Given the description of an element on the screen output the (x, y) to click on. 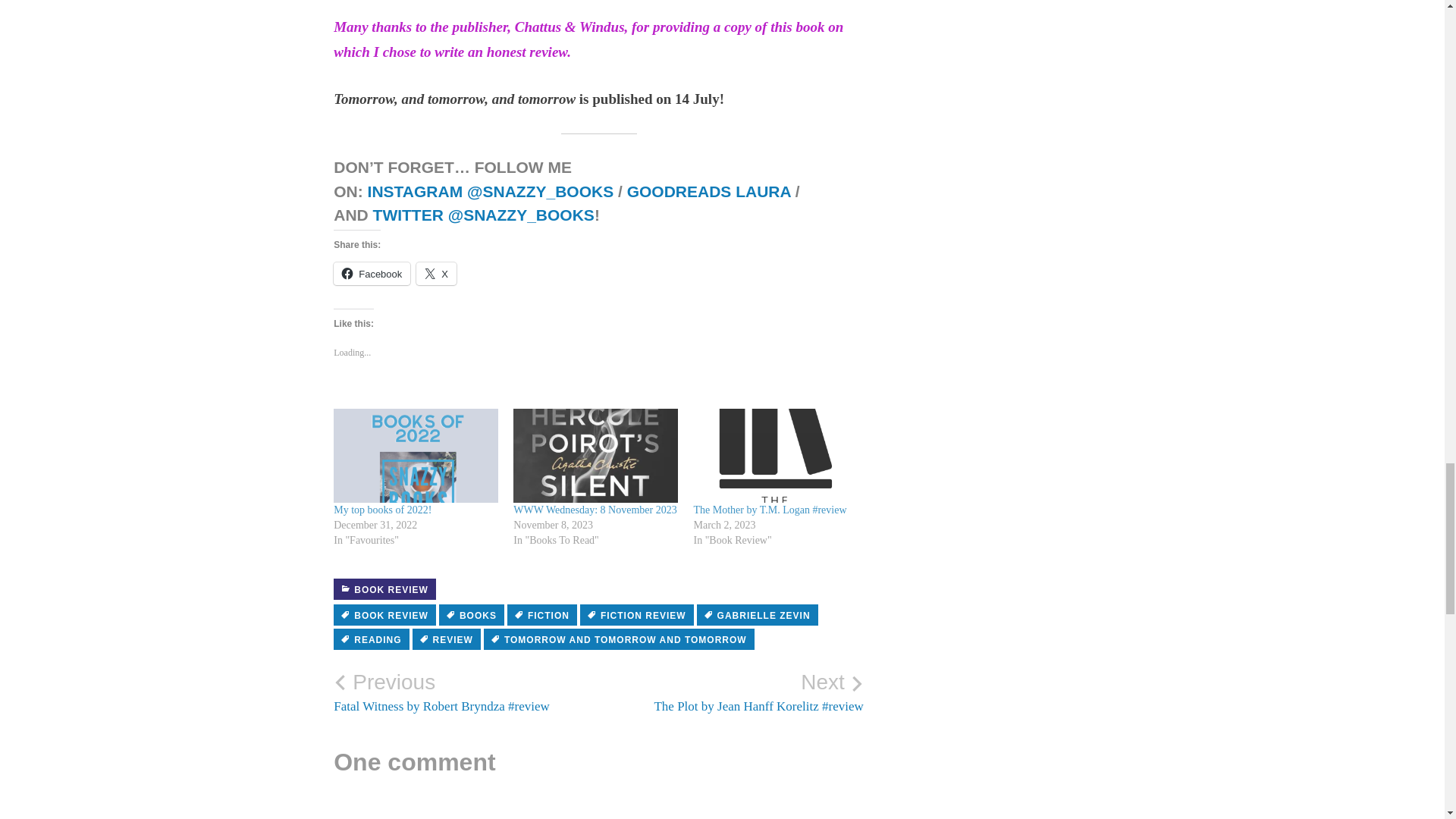
GOODREADS LAURA (708, 190)
My top books of 2022! (381, 509)
TOMORROW AND TOMORROW AND TOMORROW (618, 639)
WWW Wednesday: 8 November 2023 (595, 509)
REVIEW (446, 639)
Click to share on X (436, 273)
My top books of 2022! (381, 509)
My top books of 2022! (415, 455)
FICTION (541, 614)
READING (371, 639)
INSTAGRAM (415, 190)
GABRIELLE ZEVIN (757, 614)
X (436, 273)
WWW Wednesday: 8 November 2023 (595, 455)
WWW Wednesday: 8 November 2023 (595, 509)
